Given the description of an element on the screen output the (x, y) to click on. 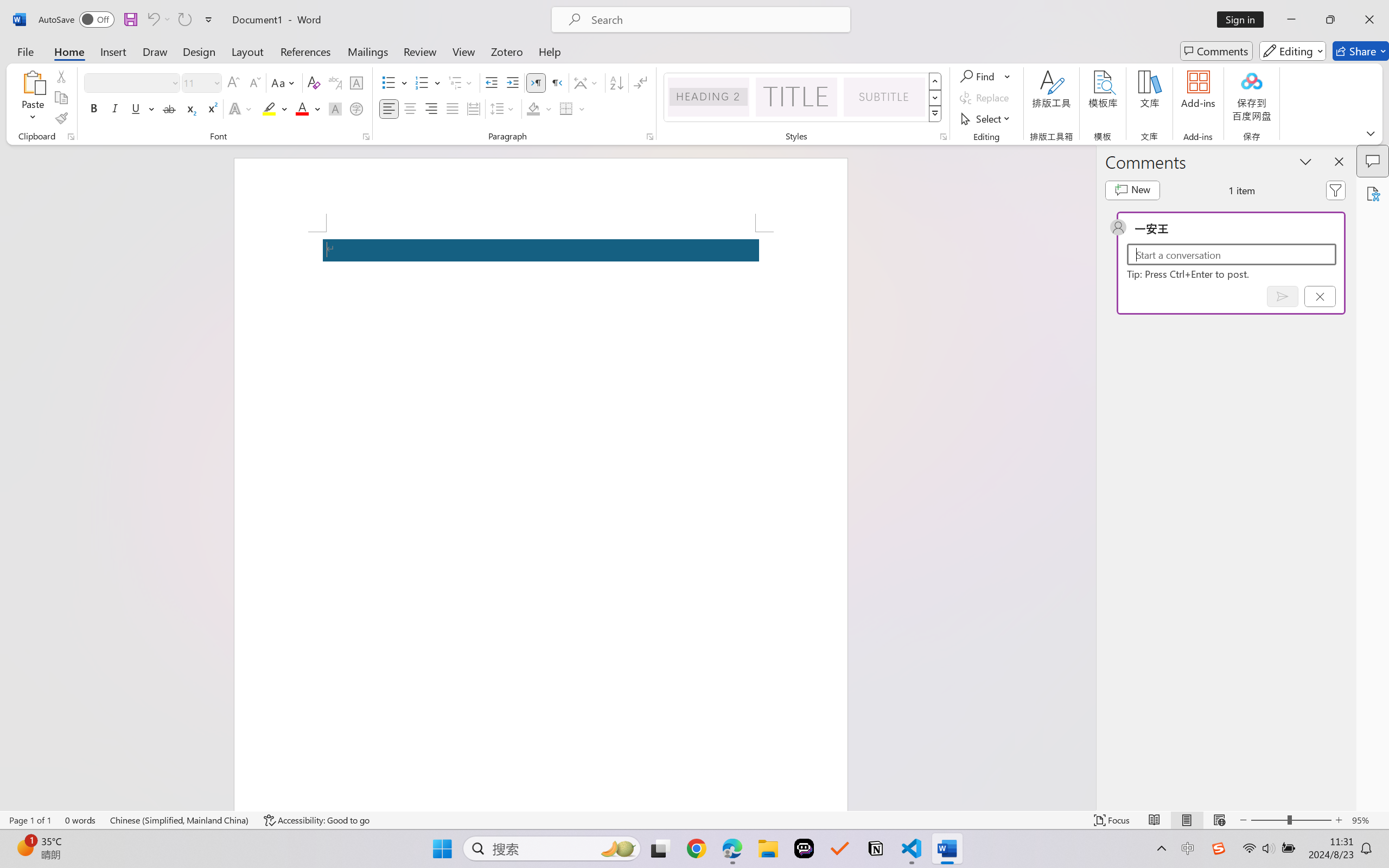
AutomationID: QuickStylesGallery (802, 97)
Sign in (1244, 19)
New comment (1132, 190)
Start a conversation (1231, 254)
Language Chinese (Simplified, Mainland China) (179, 819)
